Given the description of an element on the screen output the (x, y) to click on. 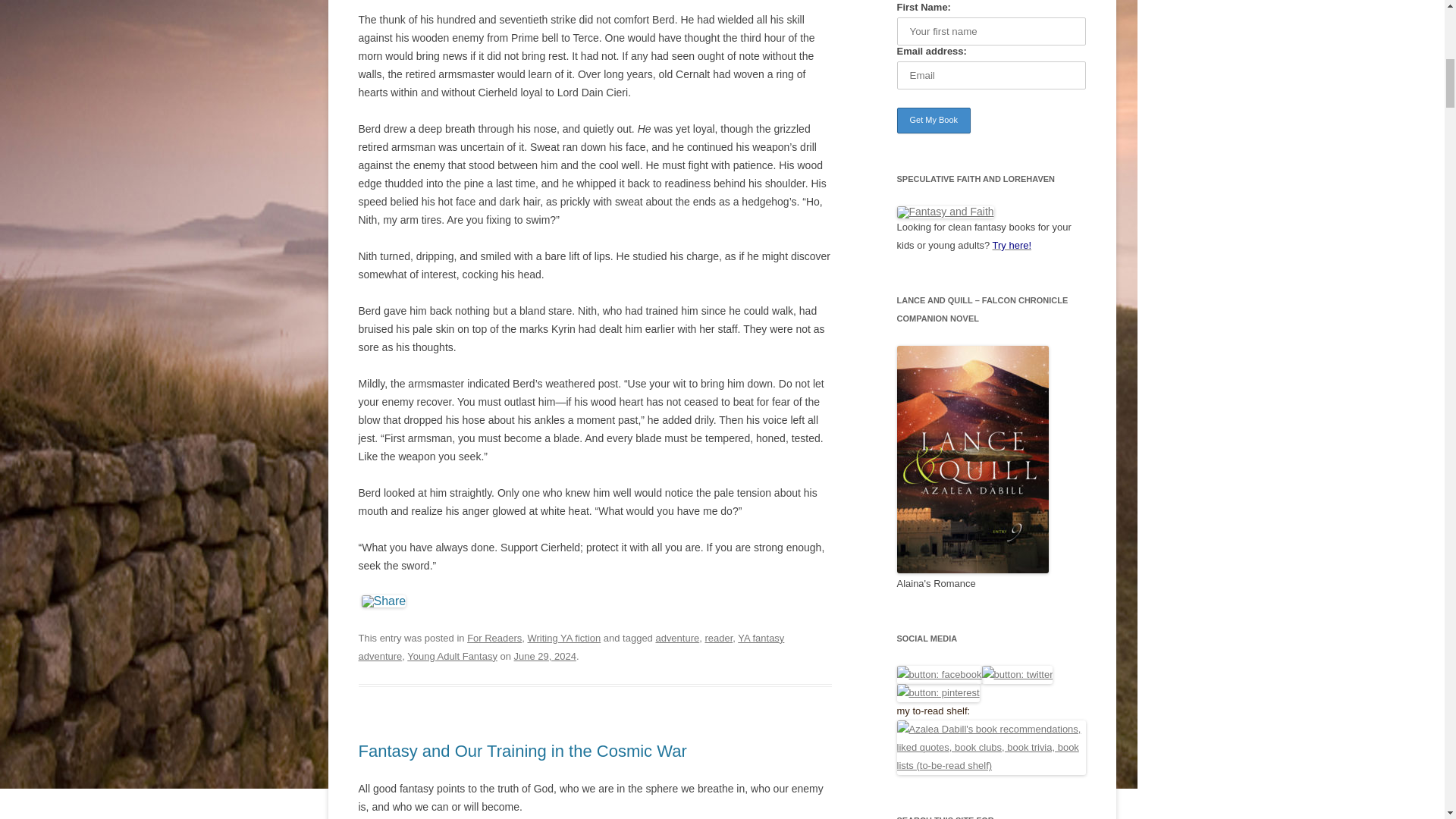
Get My Book (933, 120)
adventure (676, 637)
Writing YA fiction (564, 637)
For Readers (494, 637)
Young Adult Fantasy (452, 655)
8:32 pm (544, 655)
June 29, 2024 (544, 655)
Fantasy and Our Training in the Cosmic War (521, 751)
YA fantasy adventure (571, 646)
reader (718, 637)
